Given the description of an element on the screen output the (x, y) to click on. 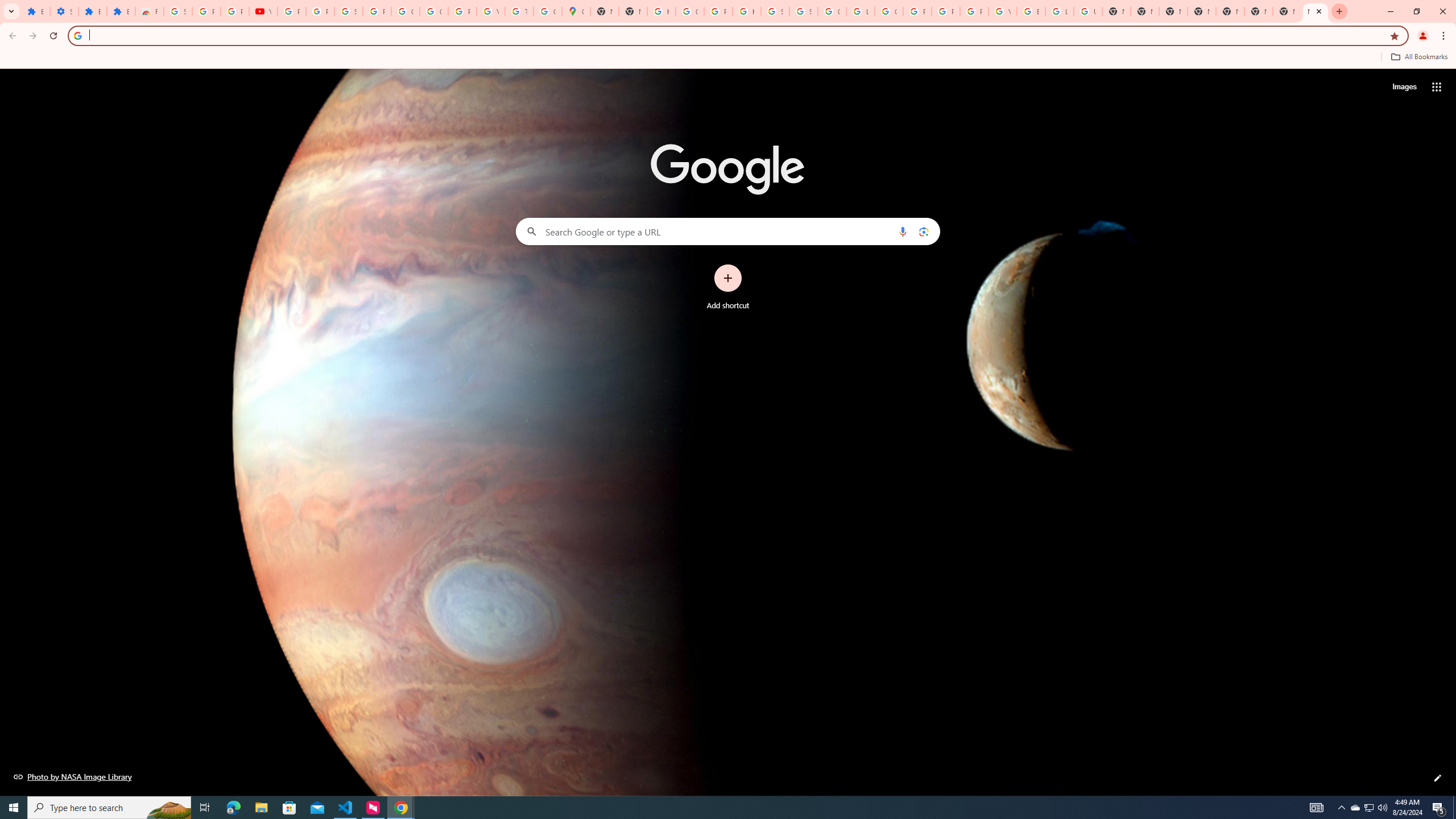
All Bookmarks (1418, 56)
New Tab (1230, 11)
Browse Chrome as a guest - Computer - Google Chrome Help (1030, 11)
Extensions (92, 11)
Extensions (35, 11)
Search Google or type a URL (727, 230)
Search by voice (902, 230)
Google Maps (575, 11)
Search icon (77, 35)
Sign in - Google Accounts (178, 11)
YouTube (490, 11)
